Given the description of an element on the screen output the (x, y) to click on. 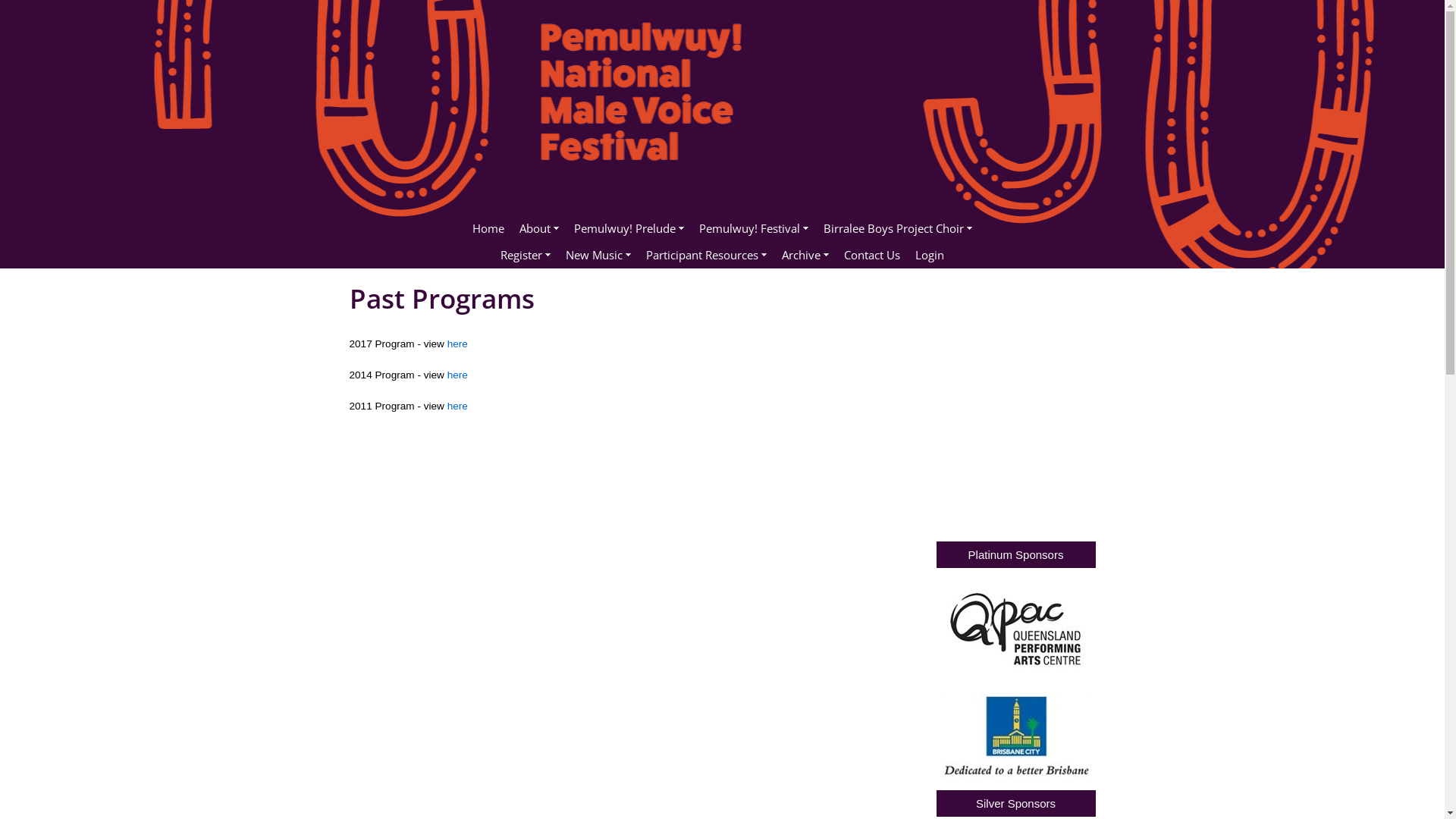
here Element type: text (457, 405)
Archive Element type: text (805, 254)
Home Element type: text (487, 228)
here Element type: text (457, 374)
Login Element type: text (929, 254)
New Music Element type: text (598, 254)
Contact Us Element type: text (871, 254)
Register Element type: text (525, 254)
Pemulwuy! Prelude Element type: text (628, 228)
About Element type: text (538, 228)
Participant Resources Element type: text (706, 254)
here Element type: text (457, 343)
Birralee Boys Project Choir Element type: text (897, 228)
Pemulwuy! Festival Element type: text (753, 228)
